Given the description of an element on the screen output the (x, y) to click on. 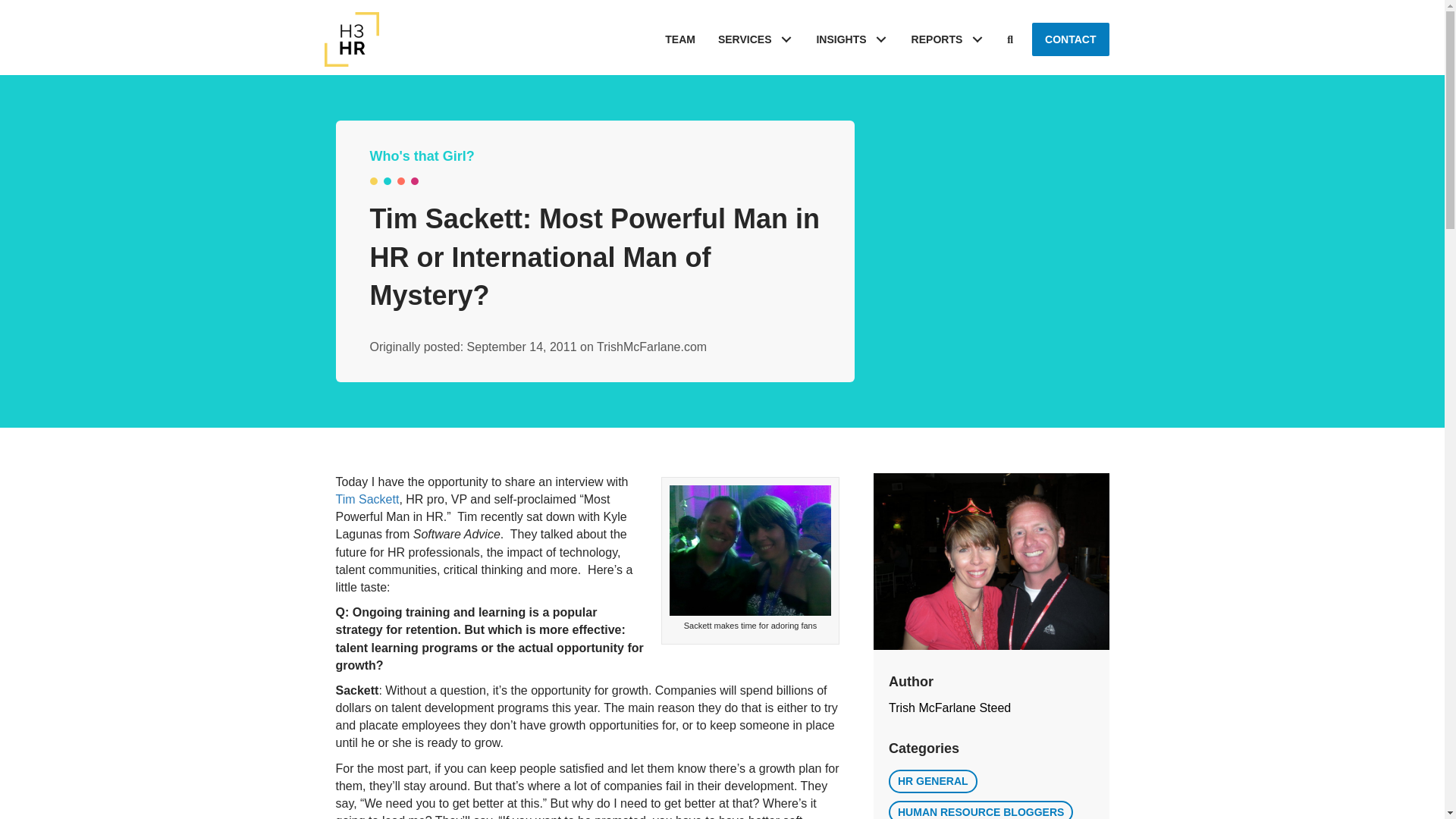
CONTACT (1070, 39)
Tim Sackett (750, 550)
HUMAN RESOURCE BLOGGERS (980, 809)
INSIGHTS (852, 39)
TEAM (679, 39)
SERVICES (755, 39)
Tim Sackett (366, 499)
REPORTS (947, 39)
HR GENERAL (932, 780)
